Given the description of an element on the screen output the (x, y) to click on. 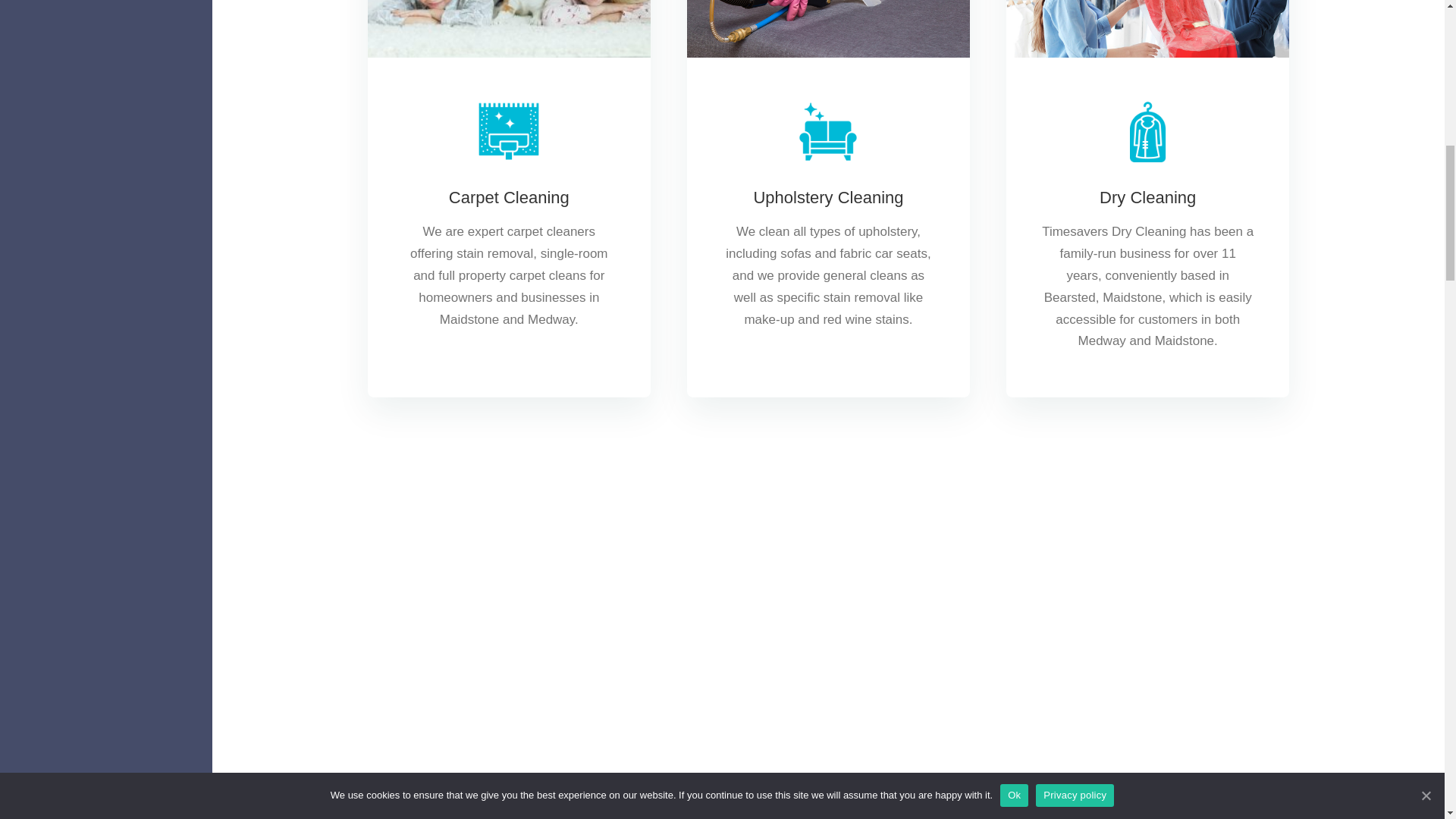
Untitled-1 (828, 131)
Untitled-1 (1147, 131)
Untitled-1 (508, 131)
